Given the description of an element on the screen output the (x, y) to click on. 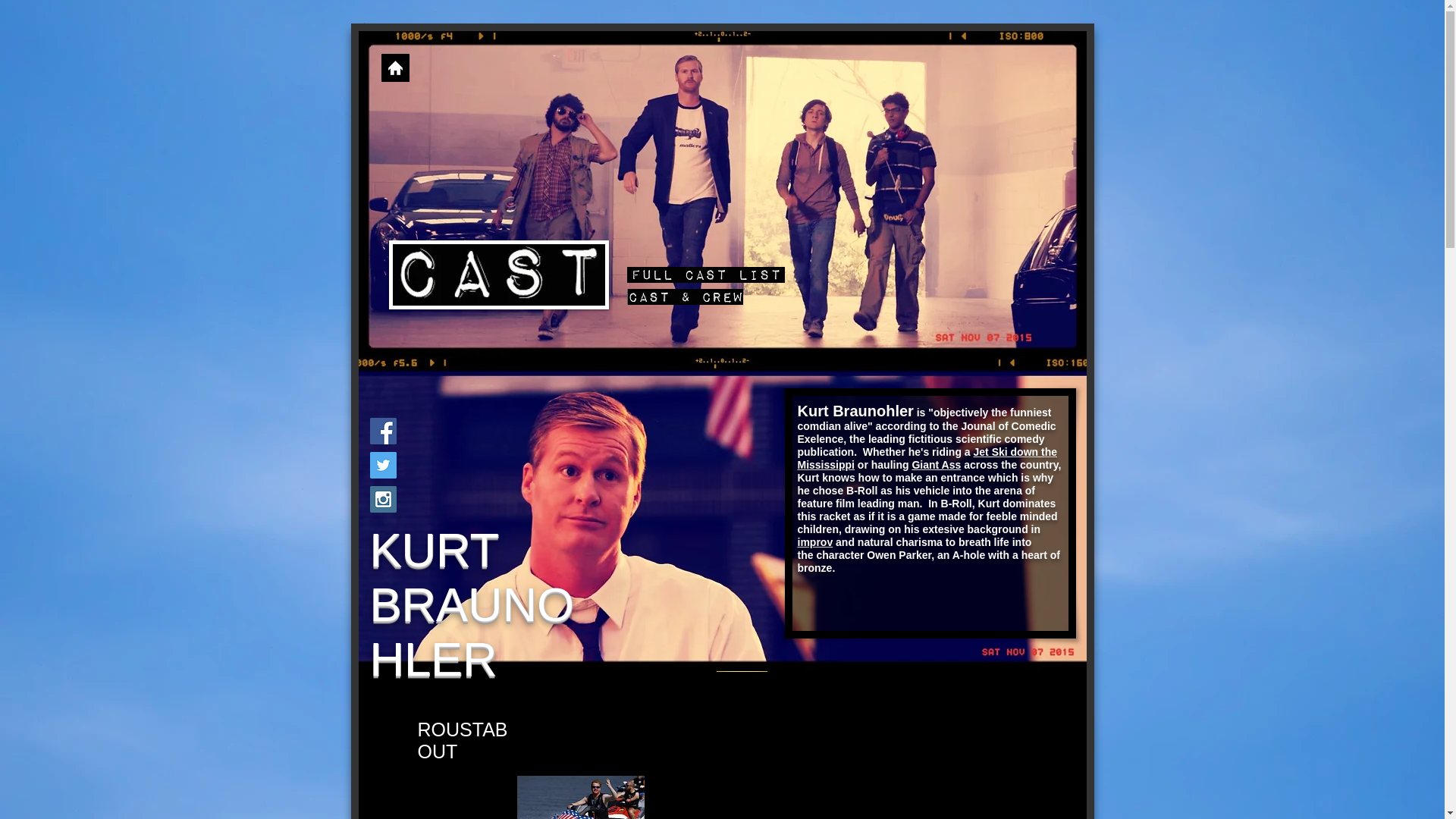
castandcrew.jpg (684, 296)
imdb.png (741, 662)
Jet Ski down the Mississippi (927, 457)
Embedded Content (869, 797)
castandcrew.jpg (498, 274)
roustabout j.jpg (580, 797)
Giant Ass (935, 464)
ROUSTABOUT (461, 740)
improv (814, 541)
